Given the description of an element on the screen output the (x, y) to click on. 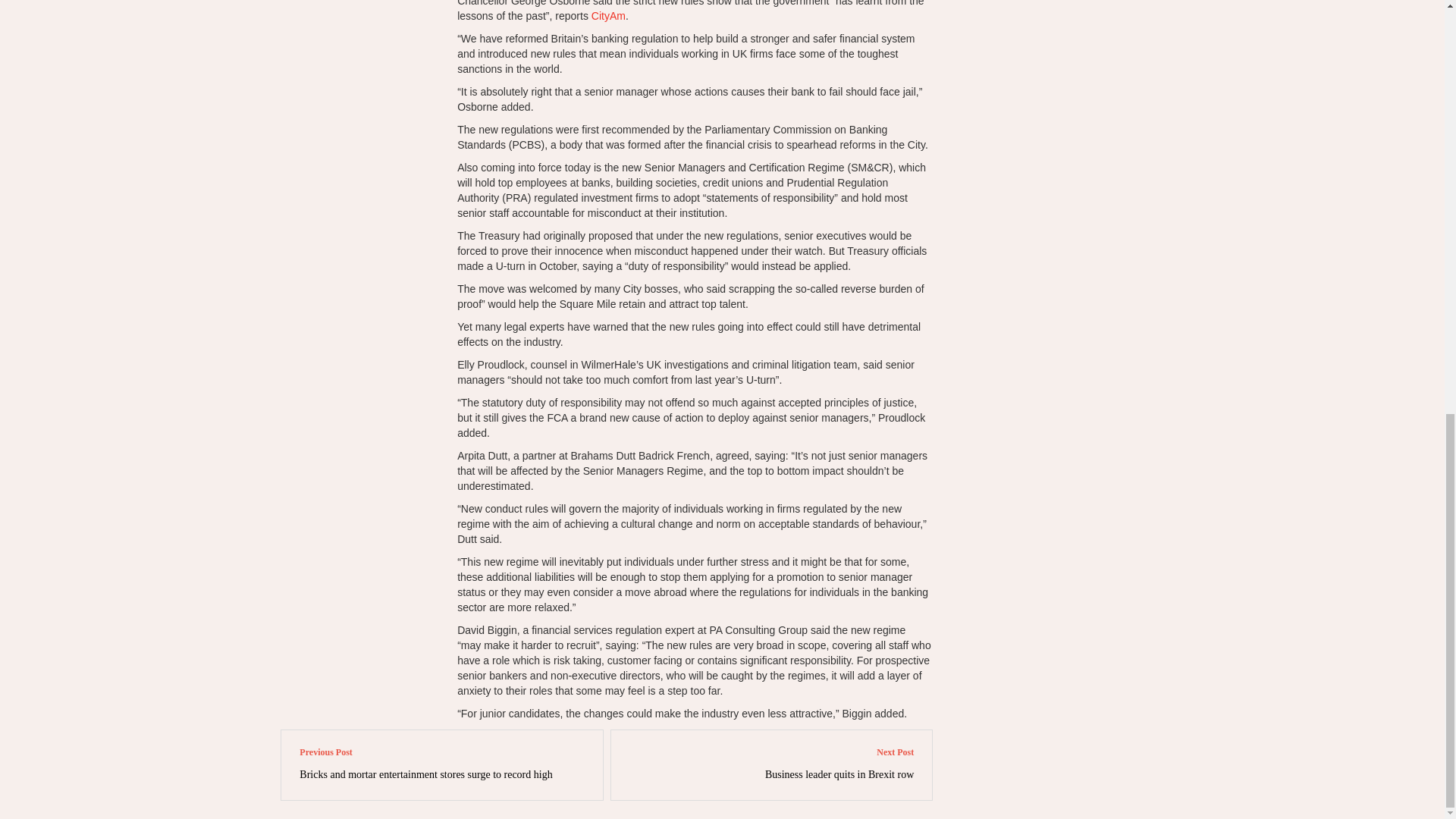
Bricks and mortar entertainment stores surge to record high (425, 774)
Business leader quits in Brexit row (839, 774)
CityAm (608, 15)
